Given the description of an element on the screen output the (x, y) to click on. 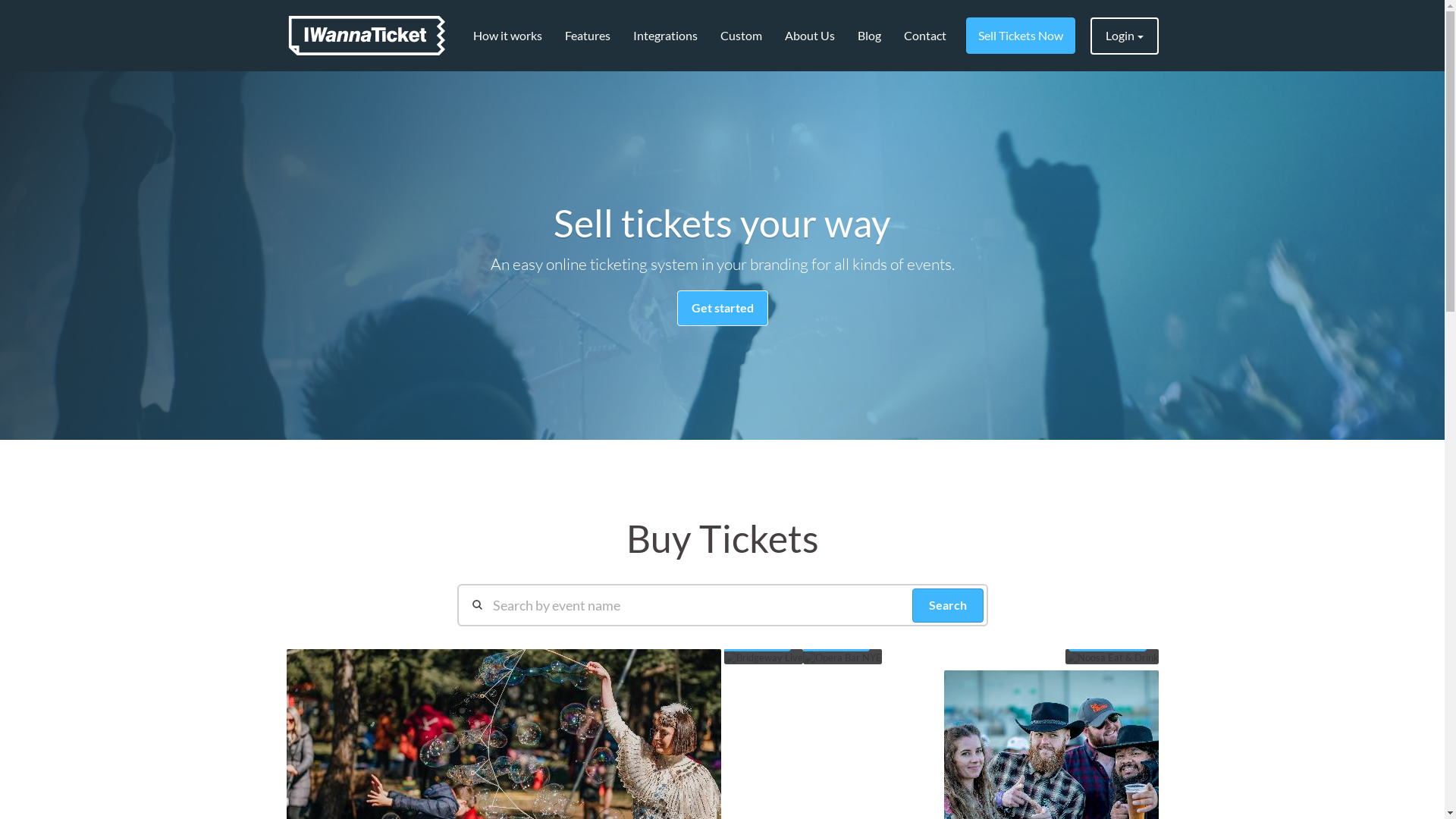
Login Element type: text (1124, 35)
How it works Element type: text (506, 35)
IWannaTicket Element type: text (366, 35)
Contact Element type: text (924, 35)
About Us Element type: text (809, 35)
Integrations Element type: text (665, 35)
View & Book Element type: text (1106, 639)
Custom Element type: text (740, 35)
Blog Element type: text (869, 35)
Get started Element type: text (721, 308)
View & Book Element type: text (751, 639)
Sell Tickets Now Element type: text (1020, 35)
Get Tickets Element type: text (834, 639)
Features Element type: text (587, 35)
Search Element type: text (946, 605)
